Given the description of an element on the screen output the (x, y) to click on. 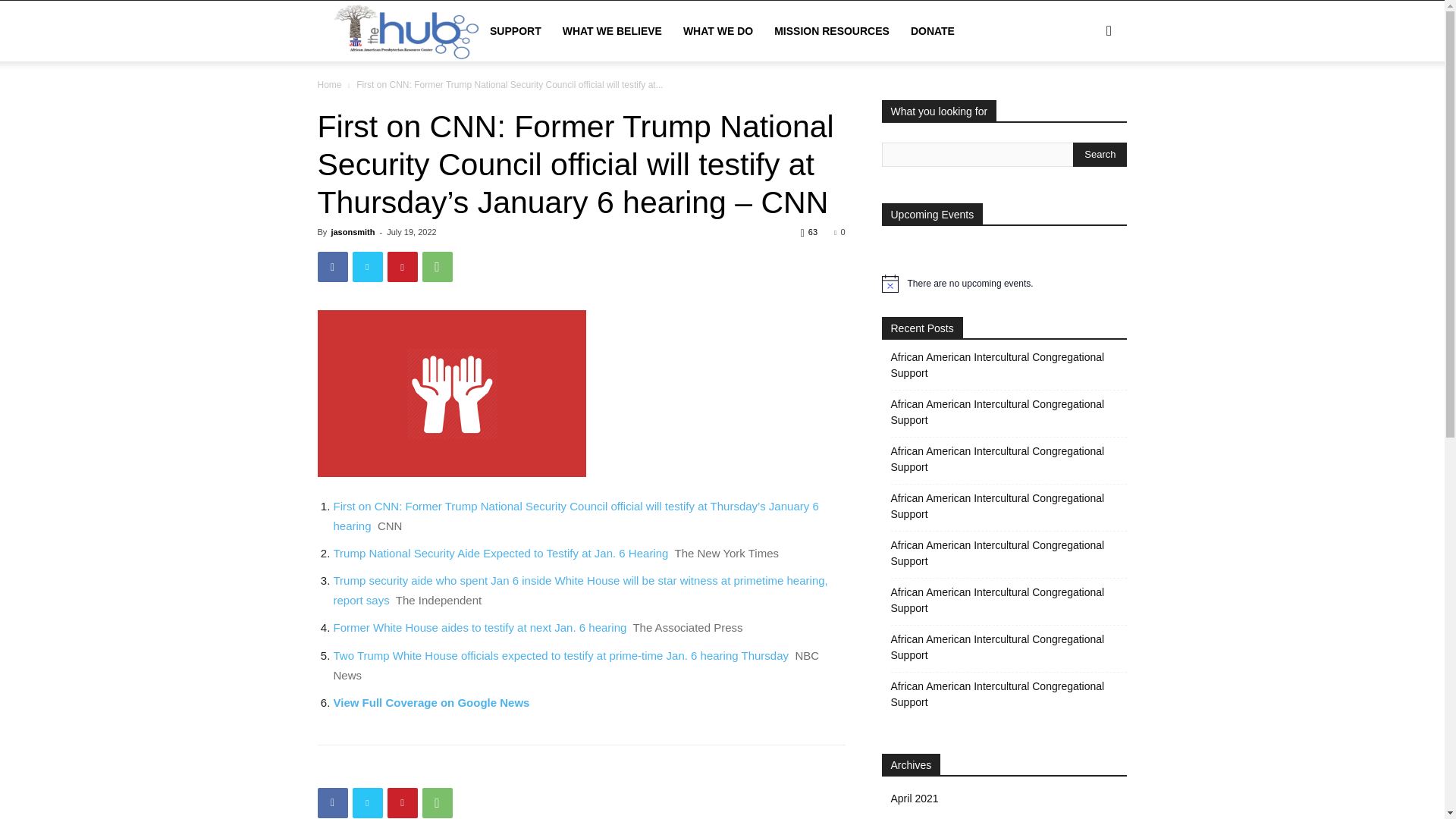
0 (839, 231)
Former White House aides to testify at next Jan. 6 hearing (480, 626)
DONATE (932, 30)
Home (328, 84)
Search (1085, 103)
WHAT WE BELIEVE (611, 30)
Search (1099, 154)
MISSION RESOURCES (830, 30)
Untitled-4 (451, 393)
PC USA Test Site (445, 31)
WHAT WE DO (717, 30)
jasonsmith (352, 231)
